Given the description of an element on the screen output the (x, y) to click on. 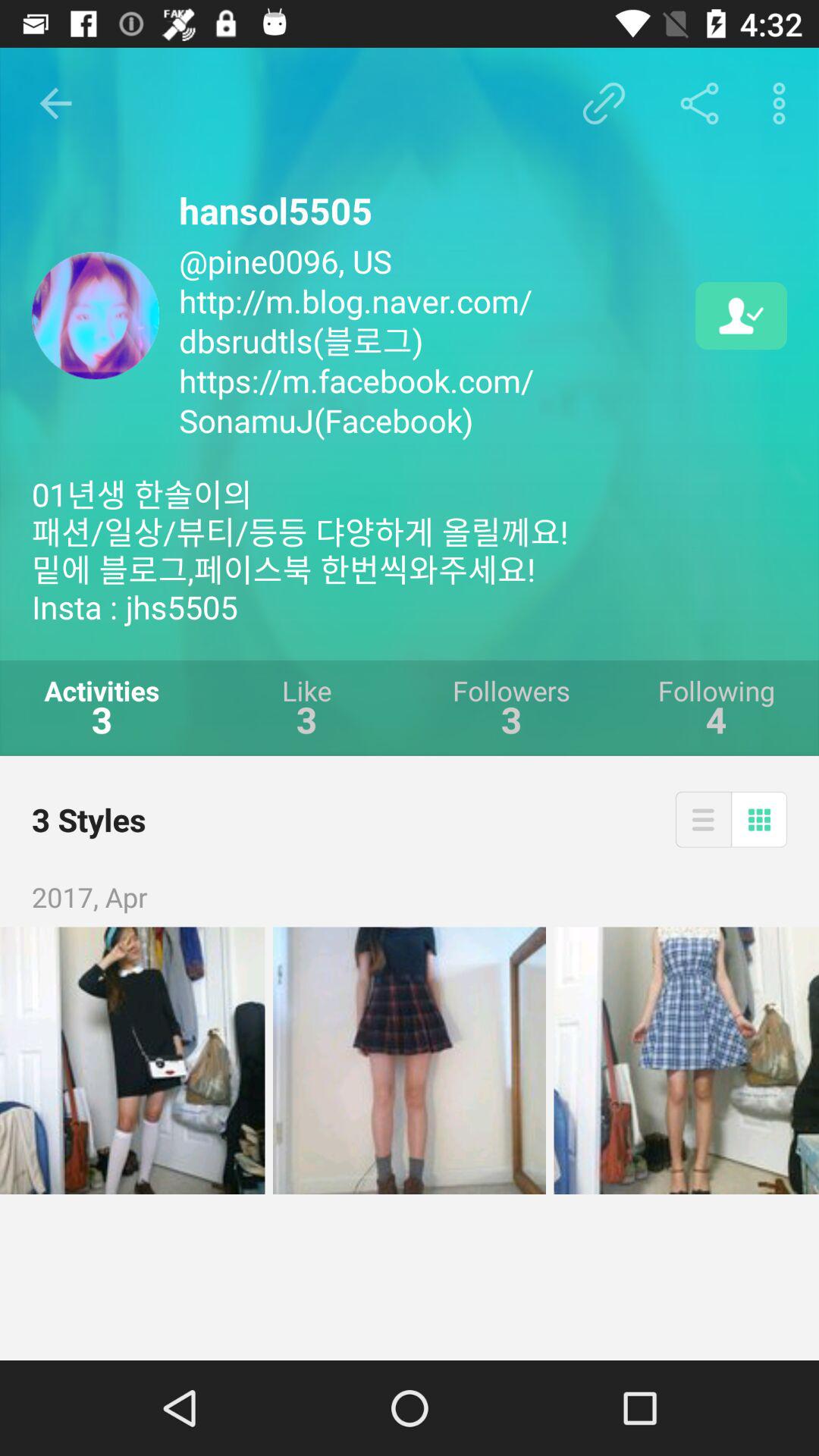
view selected (686, 1060)
